Given the description of an element on the screen output the (x, y) to click on. 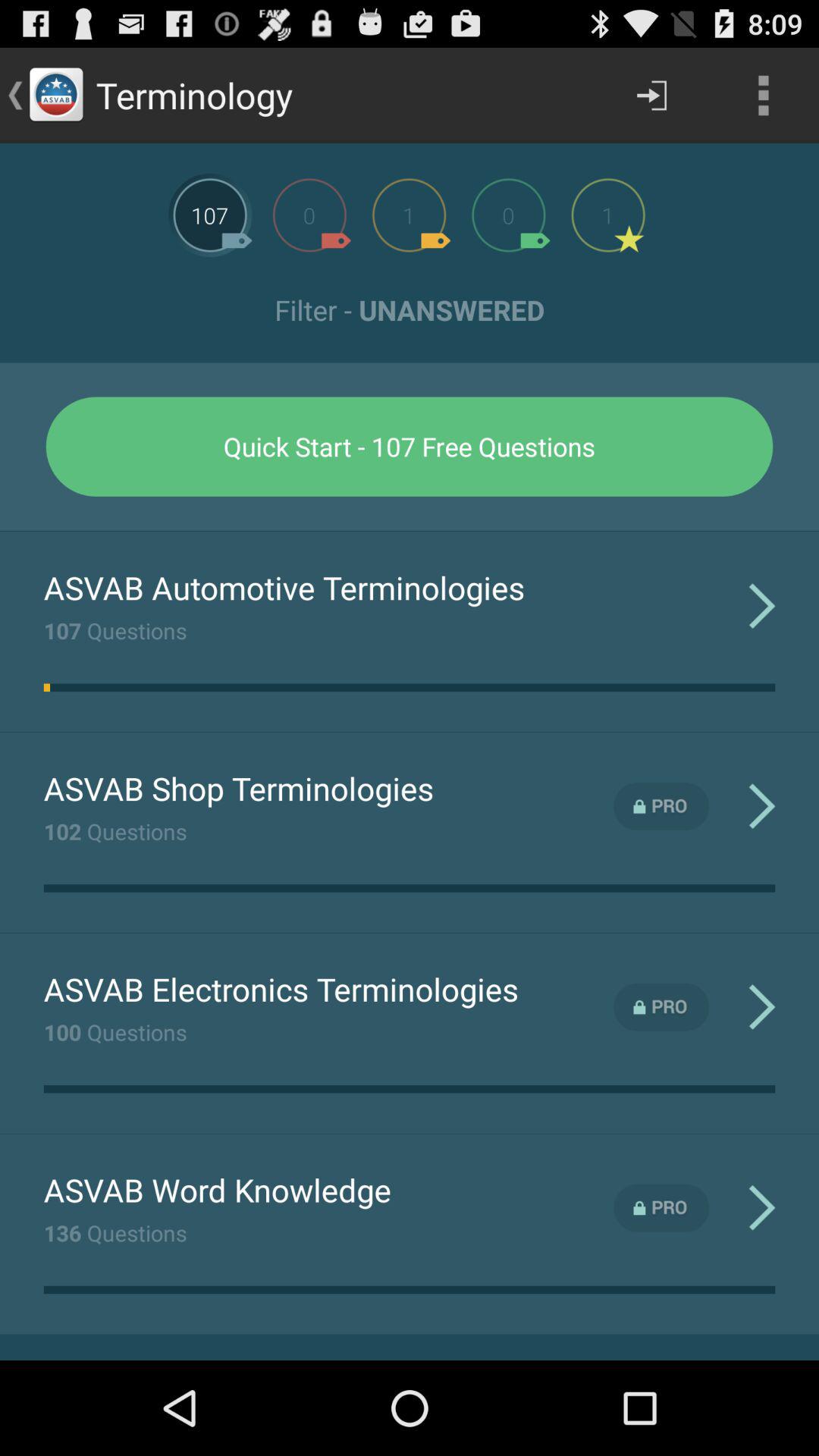
turn on quick start 107 (409, 446)
